Given the description of an element on the screen output the (x, y) to click on. 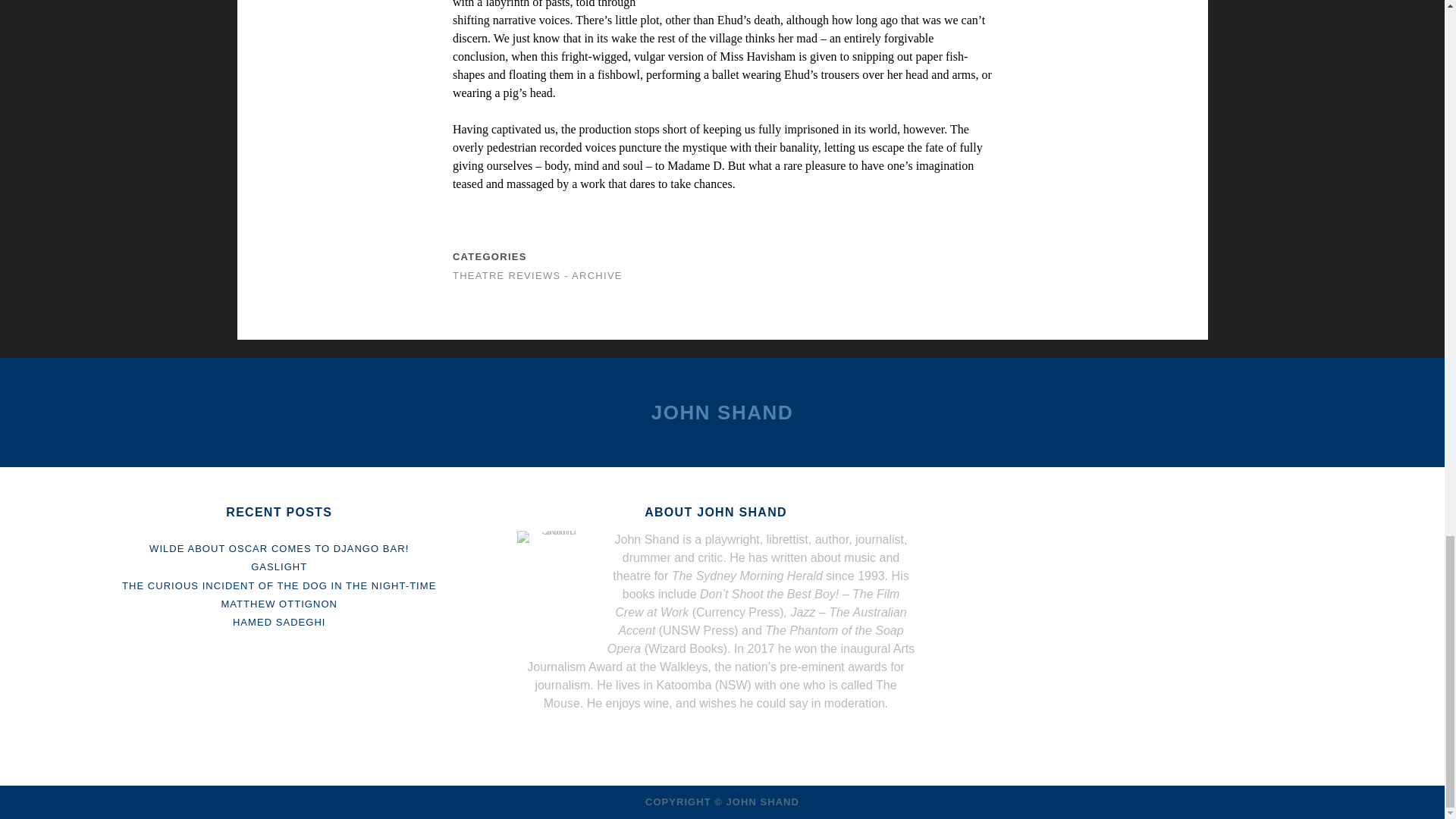
THEATRE REVIEWS - ARCHIVE (537, 275)
JOHN SHAND (721, 412)
THE CURIOUS INCIDENT OF THE DOG IN THE NIGHT-TIME (278, 584)
View all posts in Theatre Reviews - Archive (537, 275)
MATTHEW OTTIGNON (279, 603)
WILDE ABOUT OSCAR COMES TO DJANGO BAR! (279, 548)
HAMED SADEGHI (279, 622)
GASLIGHT (278, 566)
